Given the description of an element on the screen output the (x, y) to click on. 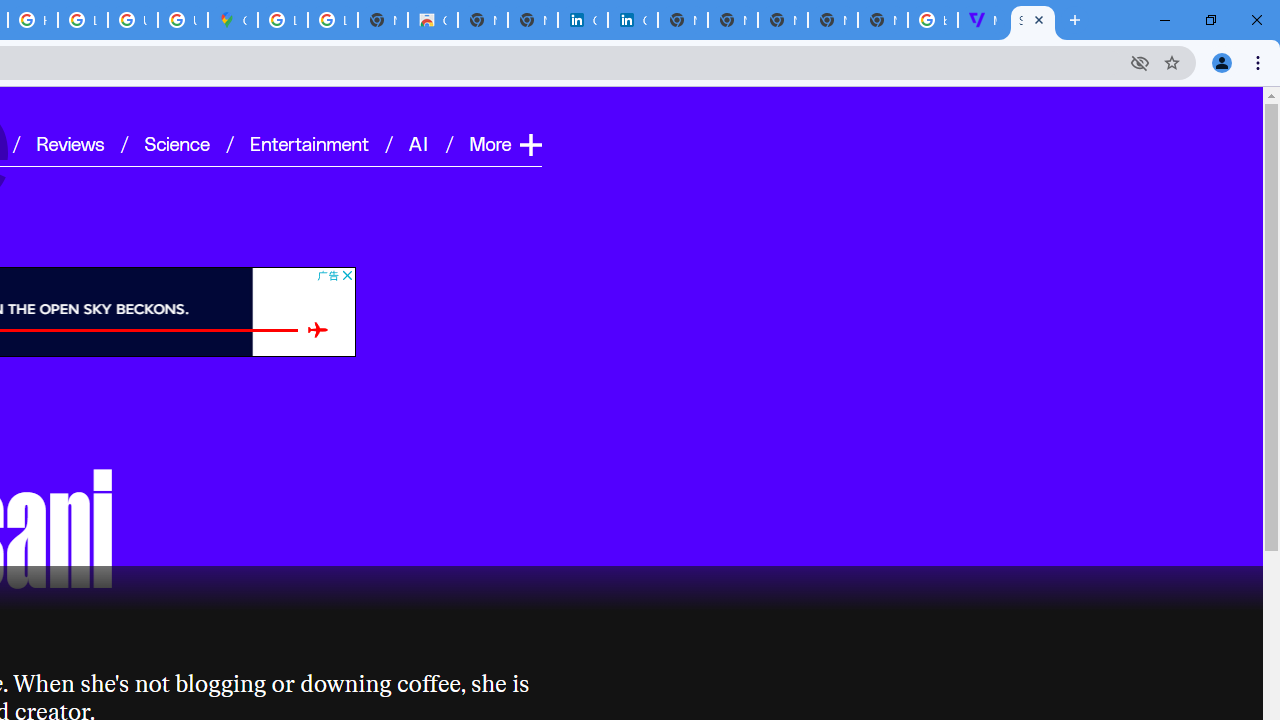
Expand (529, 144)
AI (419, 142)
Sheena Vasani Profile and Activity - The Verge (1032, 20)
Entertainment (309, 142)
Chrome Web Store (433, 20)
Science (176, 142)
New Tab (882, 20)
